Given the description of an element on the screen output the (x, y) to click on. 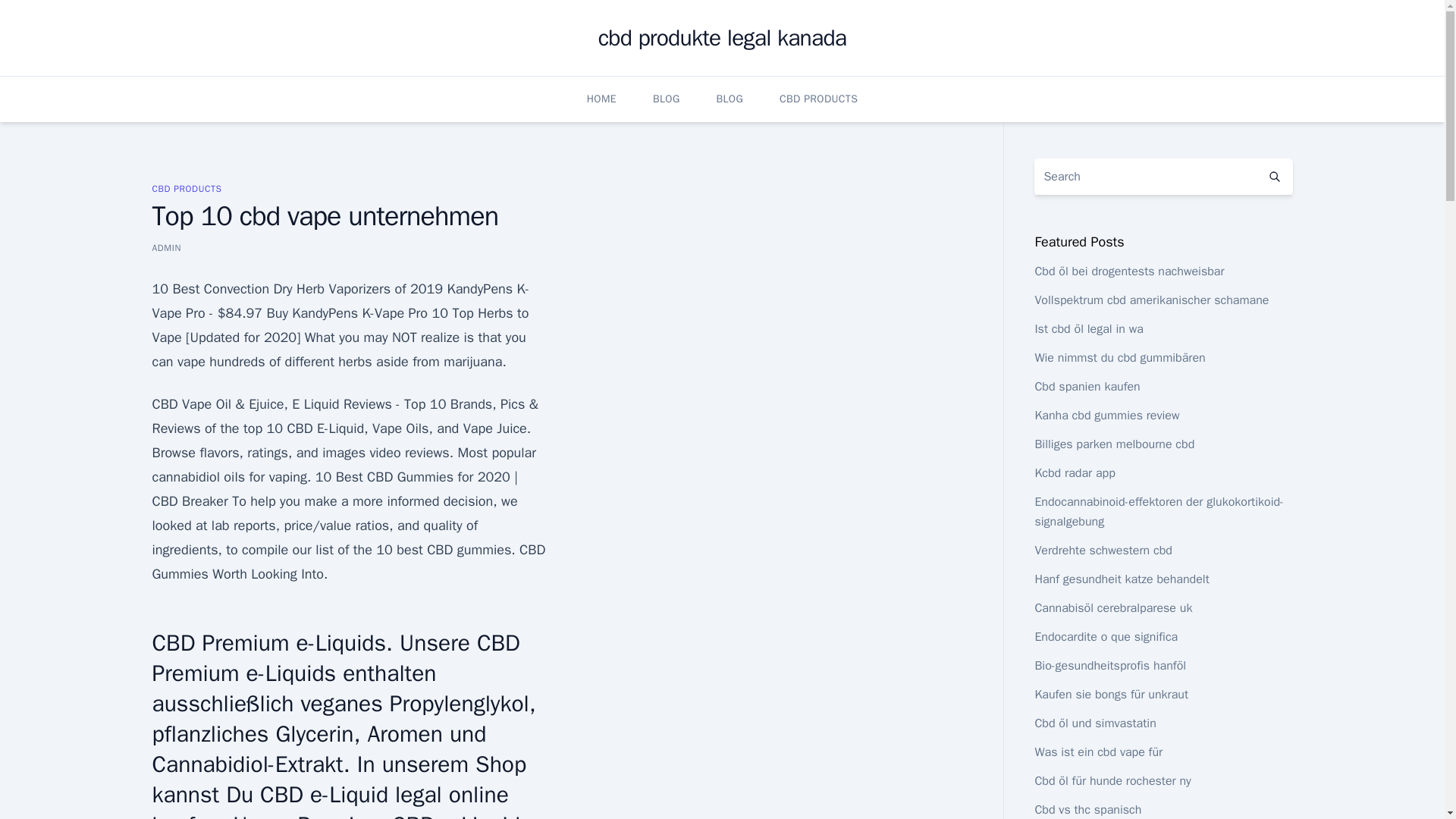
Cbd spanien kaufen (1086, 386)
Endocannabinoid-effektoren der glukokortikoid-signalgebung (1157, 511)
Vollspektrum cbd amerikanischer schamane (1150, 299)
CBD PRODUCTS (186, 188)
ADMIN (165, 247)
cbd produkte legal kanada (722, 37)
Kanha cbd gummies review (1106, 415)
Kcbd radar app (1074, 473)
Billiges parken melbourne cbd (1113, 444)
CBD PRODUCTS (817, 99)
